Given the description of an element on the screen output the (x, y) to click on. 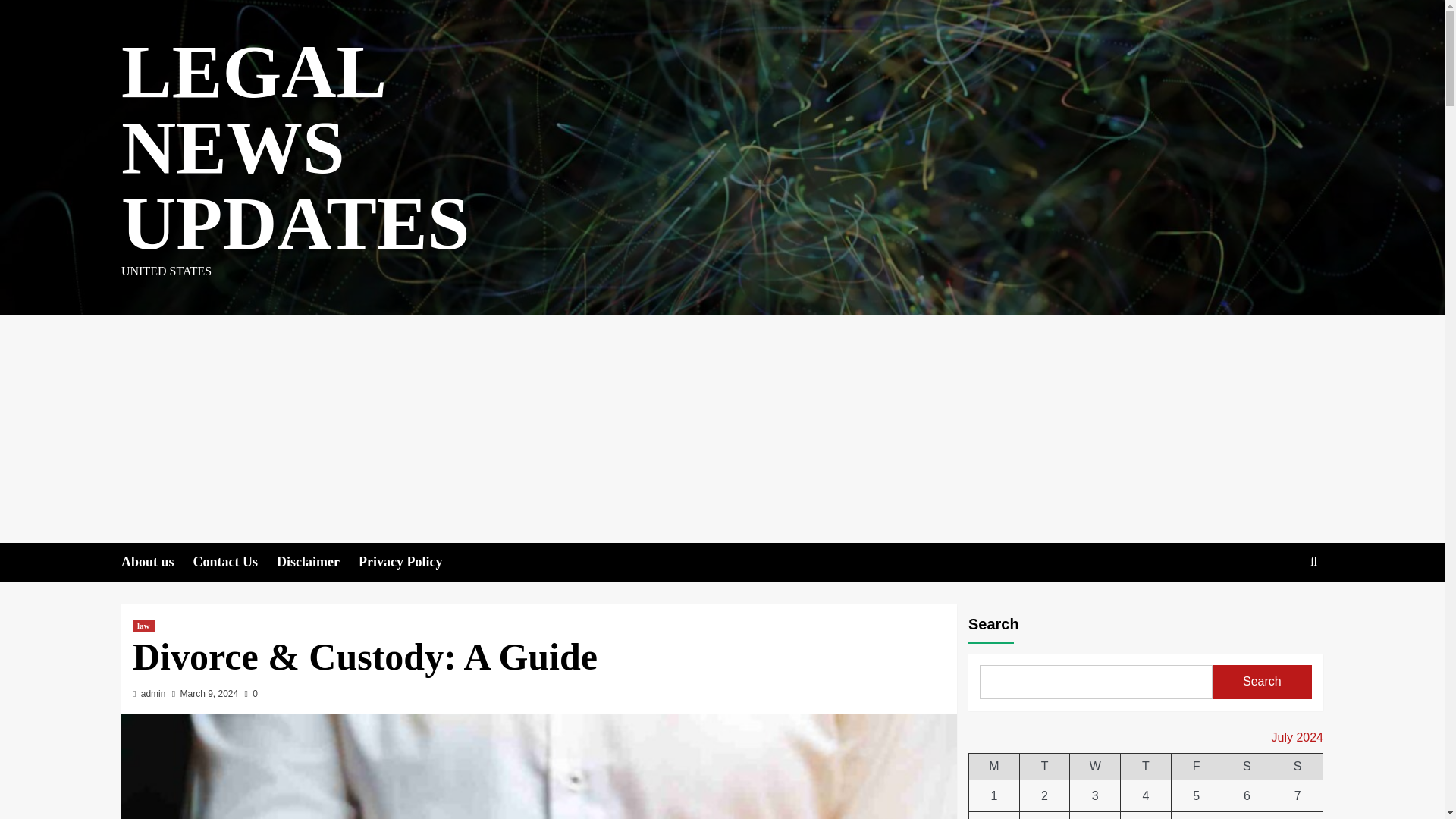
About us (156, 561)
Saturday (1246, 766)
LEGAL NEWS UPDATES (294, 147)
0 (250, 693)
admin (153, 693)
Contact Us (235, 561)
Search (1278, 608)
Thursday (1146, 766)
Tuesday (1044, 766)
Monday (994, 766)
law (143, 625)
Friday (1195, 766)
Wednesday (1095, 766)
March 9, 2024 (209, 693)
